Given the description of an element on the screen output the (x, y) to click on. 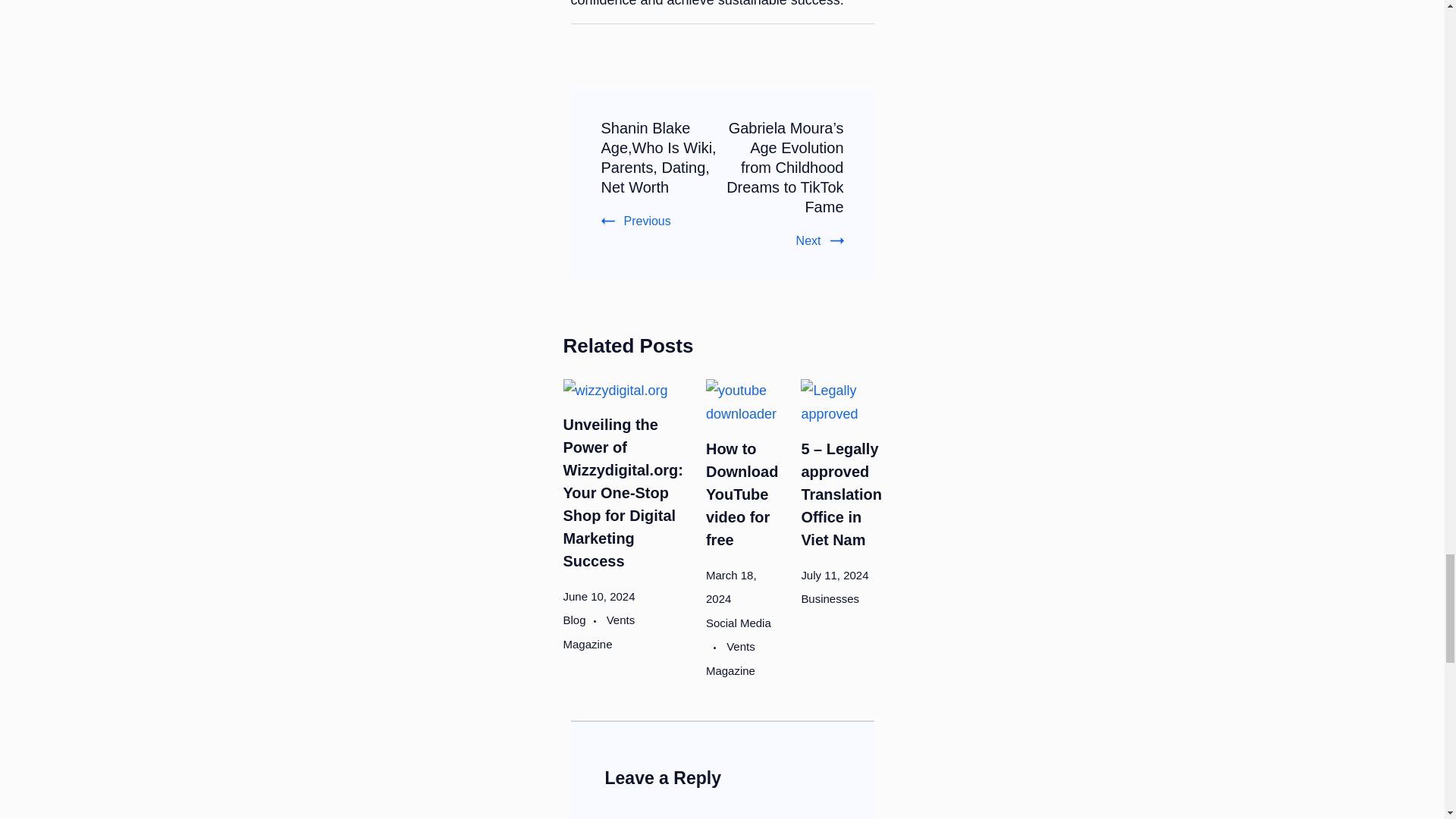
Previous (634, 220)
Shanin Blake Age,Who Is Wiki, Parents, Dating, Net Worth (657, 157)
Blog (582, 619)
Vents Magazine (598, 631)
Next (820, 240)
